Given the description of an element on the screen output the (x, y) to click on. 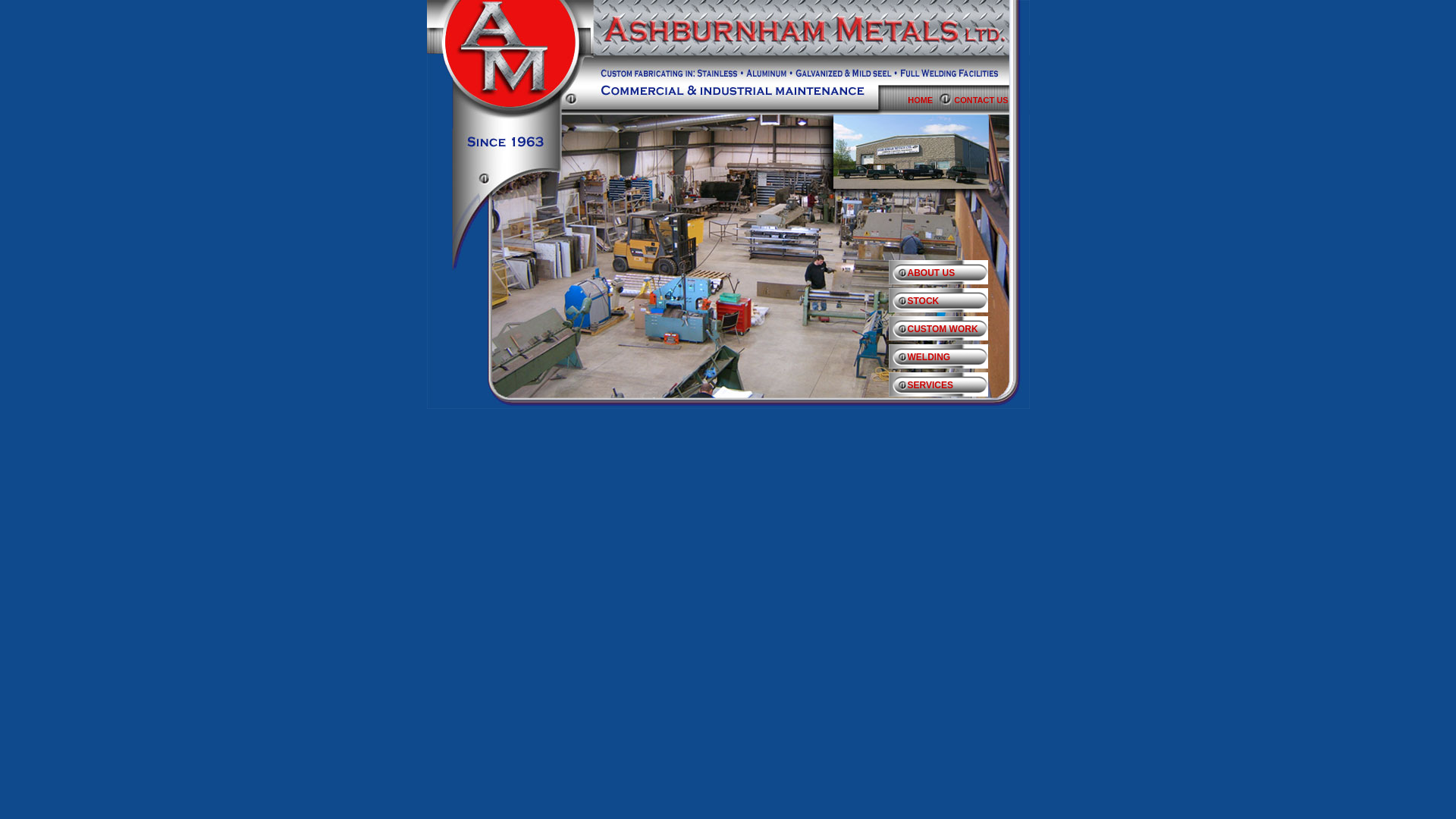
CUSTOM WORK Element type: text (947, 332)
WELDING Element type: text (947, 360)
ABOUT US Element type: text (947, 275)
SERVICES Element type: text (947, 388)
CONTACT US Element type: text (991, 99)
HOME Element type: text (930, 99)
STOCK Element type: text (947, 304)
